Given the description of an element on the screen output the (x, y) to click on. 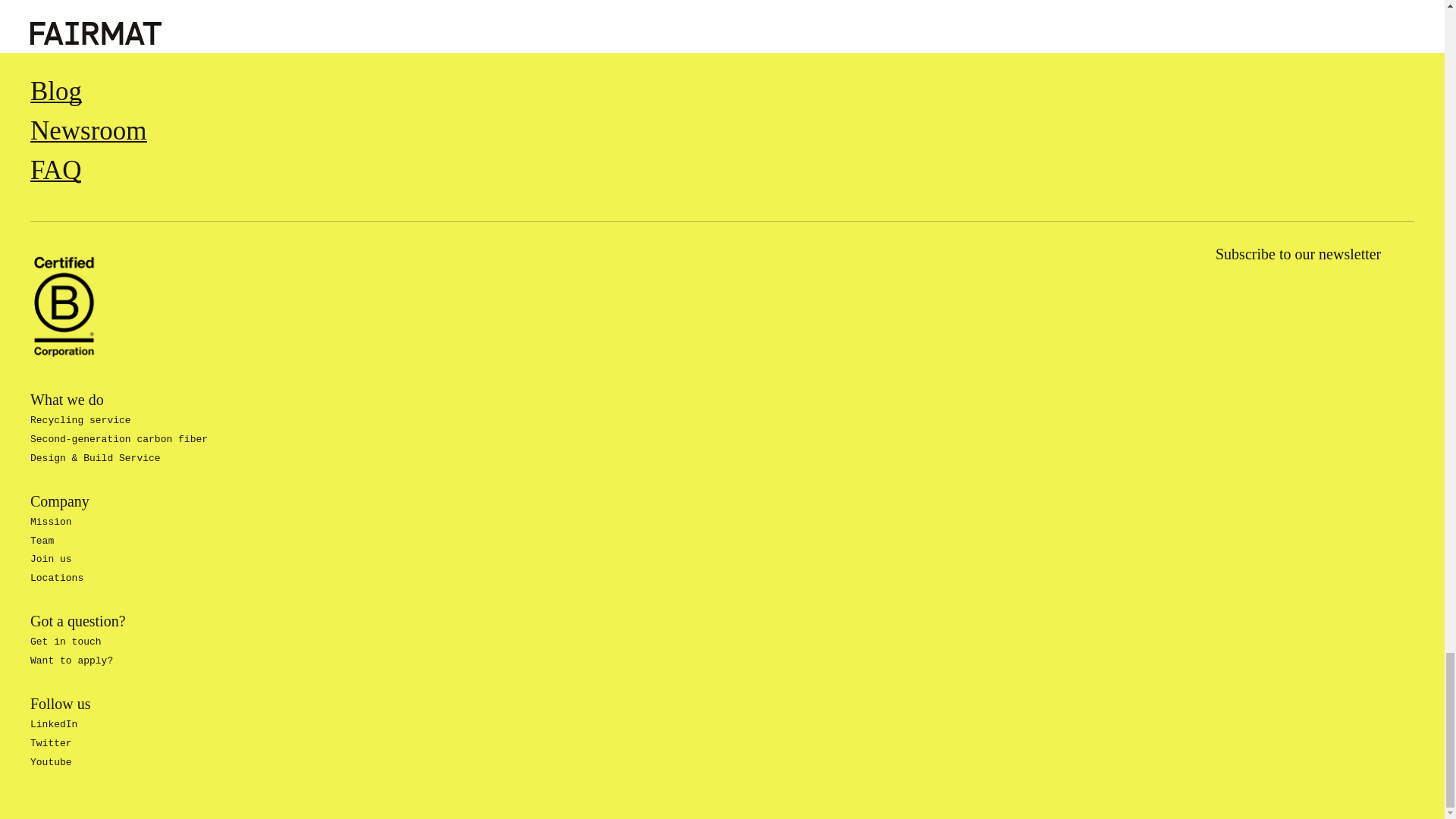
Blog (55, 87)
Recycling service (80, 419)
Second-generation carbon fiber (119, 439)
Newsroom (88, 127)
FAQ (55, 166)
Team (41, 540)
Mission (50, 521)
